Given the description of an element on the screen output the (x, y) to click on. 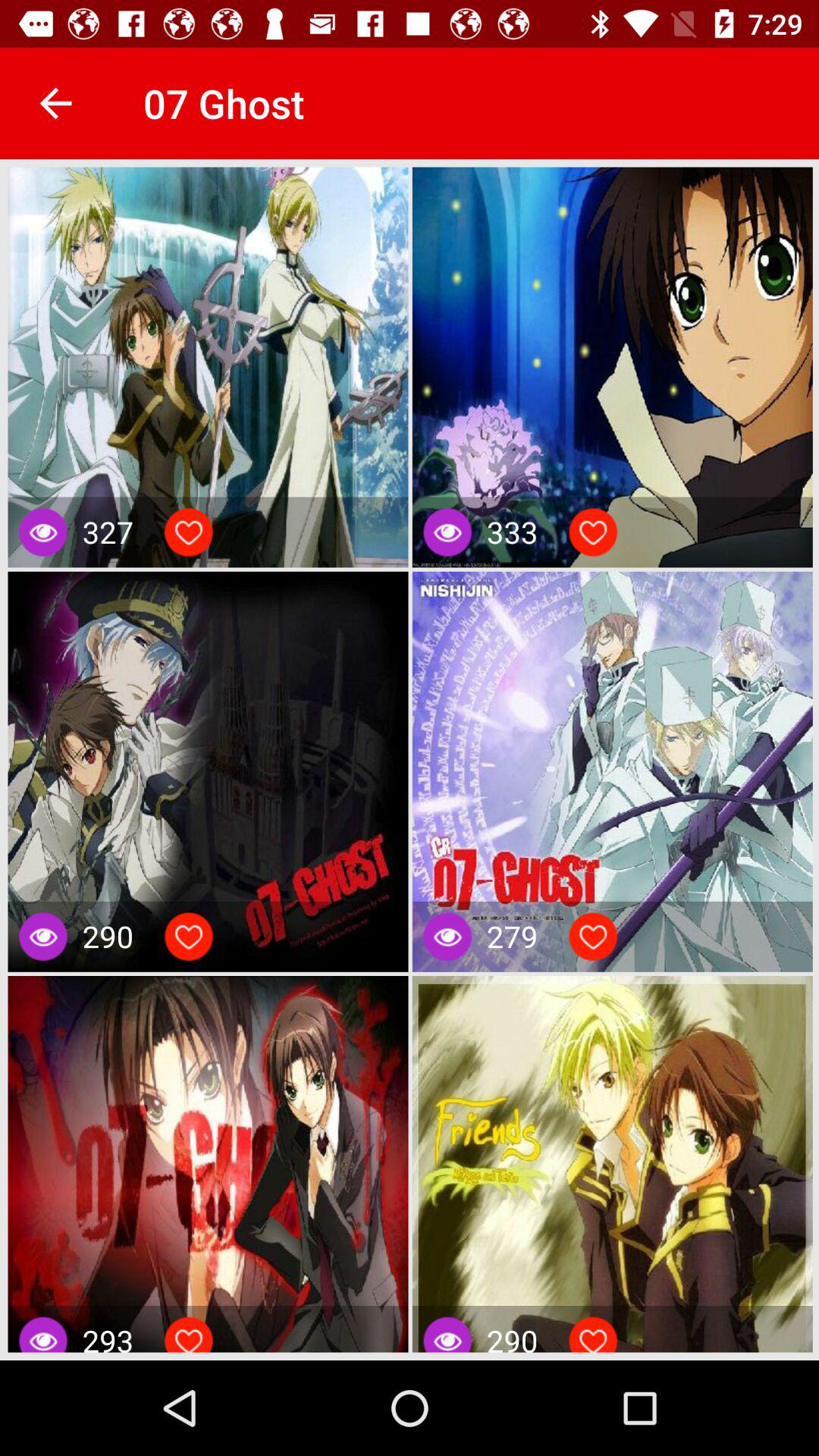
like the selection (188, 532)
